Given the description of an element on the screen output the (x, y) to click on. 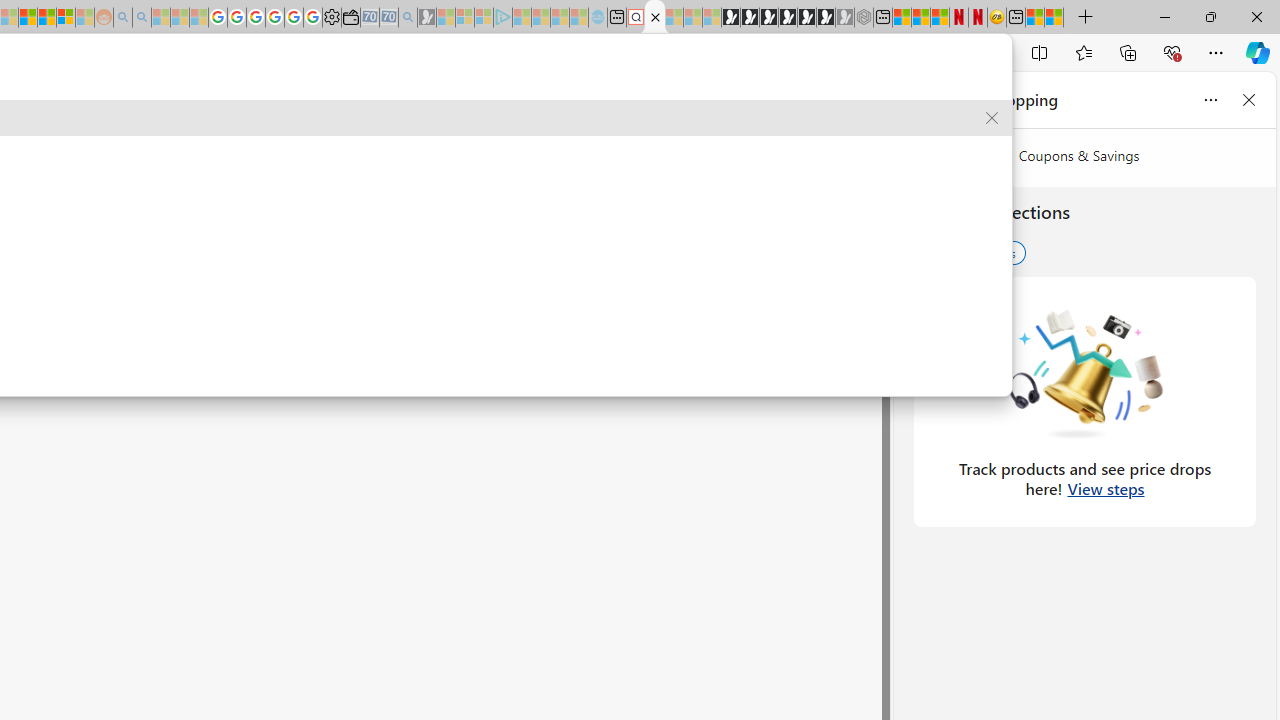
Remove suggestion (991, 117)
